Given the description of an element on the screen output the (x, y) to click on. 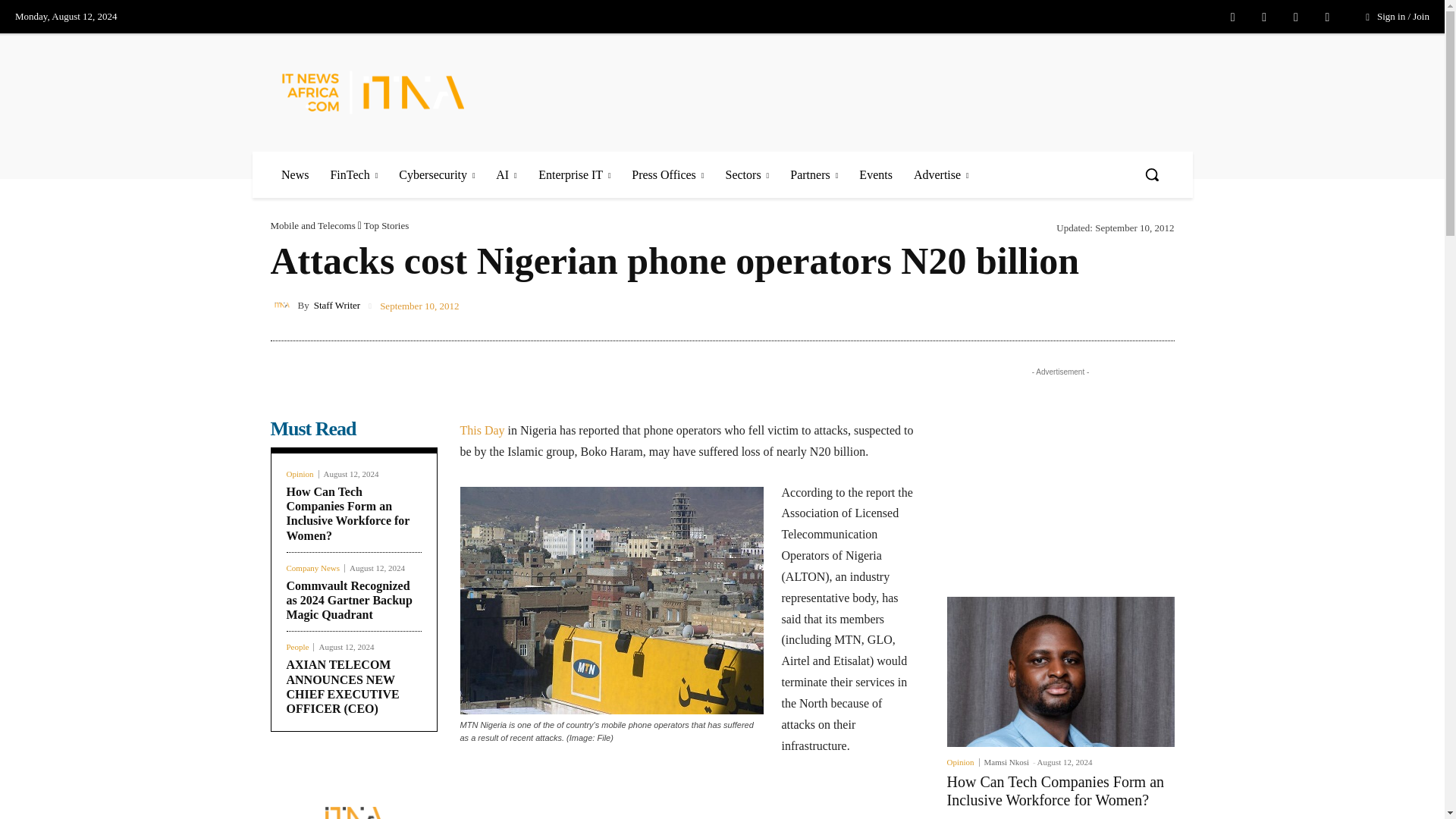
News (293, 174)
IT News Africa (392, 92)
Twitter (1295, 17)
FinTech (353, 174)
IT News Africa (373, 92)
Instagram (1263, 17)
Youtube (1327, 17)
Facebook (1233, 17)
